Given the description of an element on the screen output the (x, y) to click on. 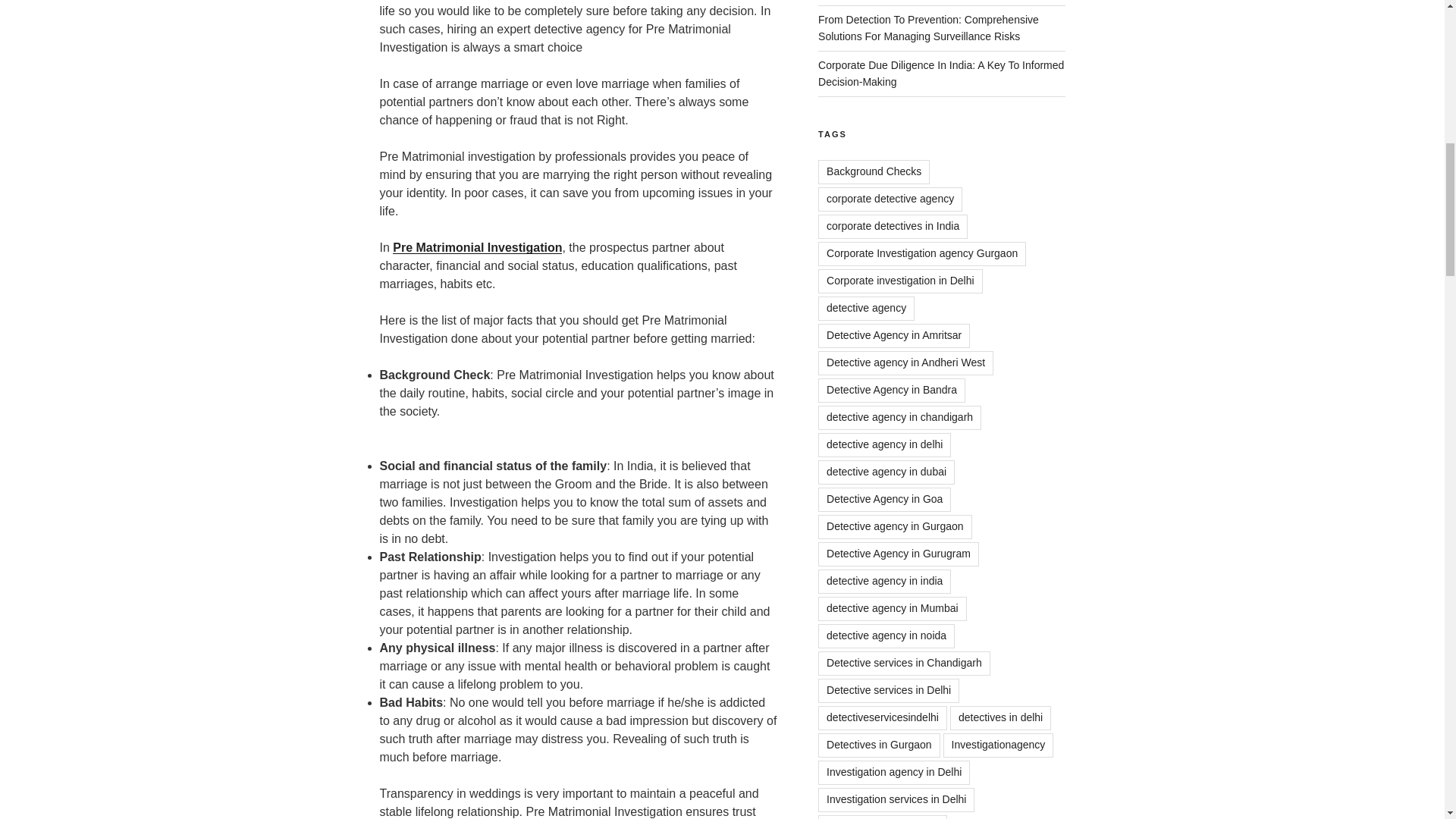
Pre Matrimonial Investigation (477, 246)
